Given the description of an element on the screen output the (x, y) to click on. 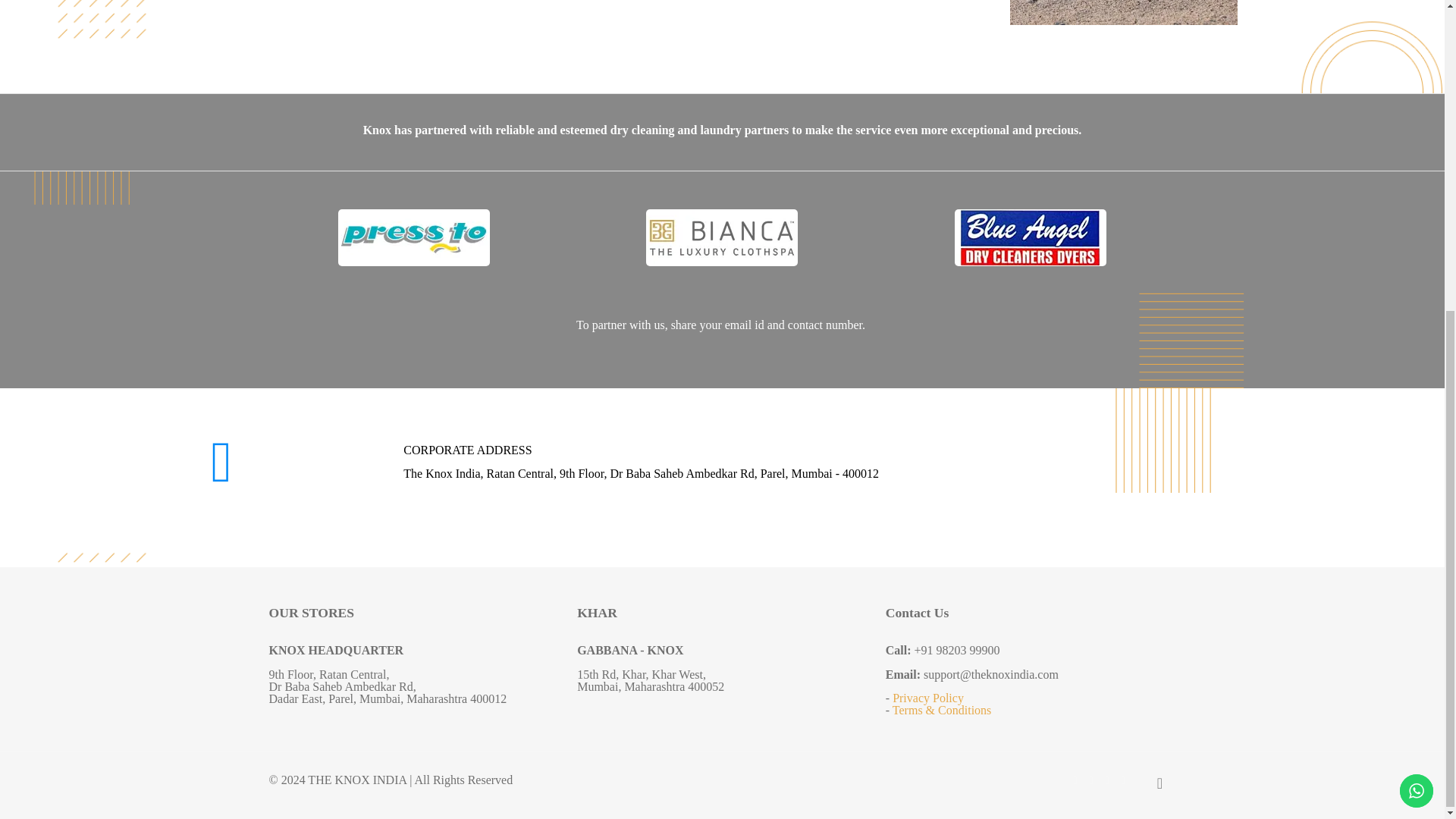
Instagram (1106, 779)
Facebook (1074, 779)
Whatsapp (1123, 779)
Privacy Policy (927, 697)
